Given the description of an element on the screen output the (x, y) to click on. 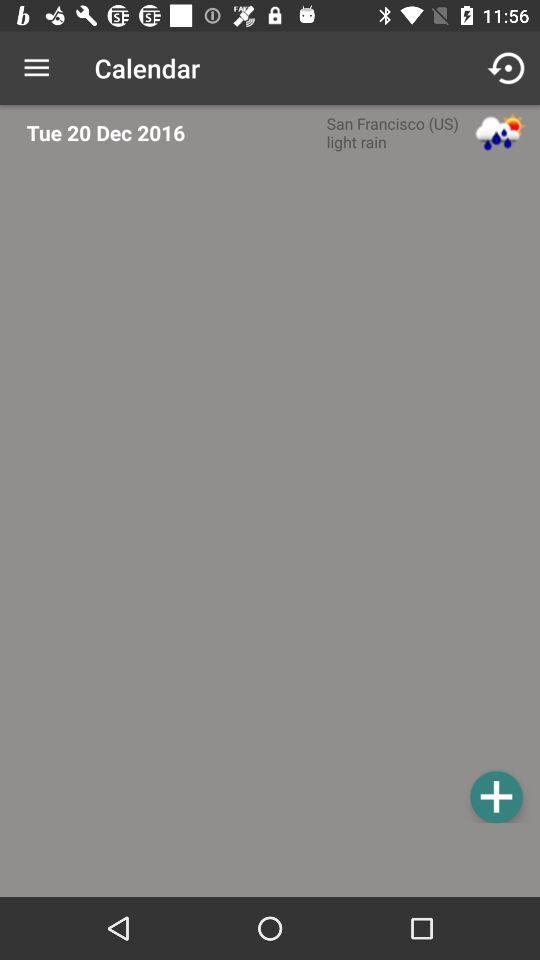
open item to the right of calendar item (508, 67)
